Given the description of an element on the screen output the (x, y) to click on. 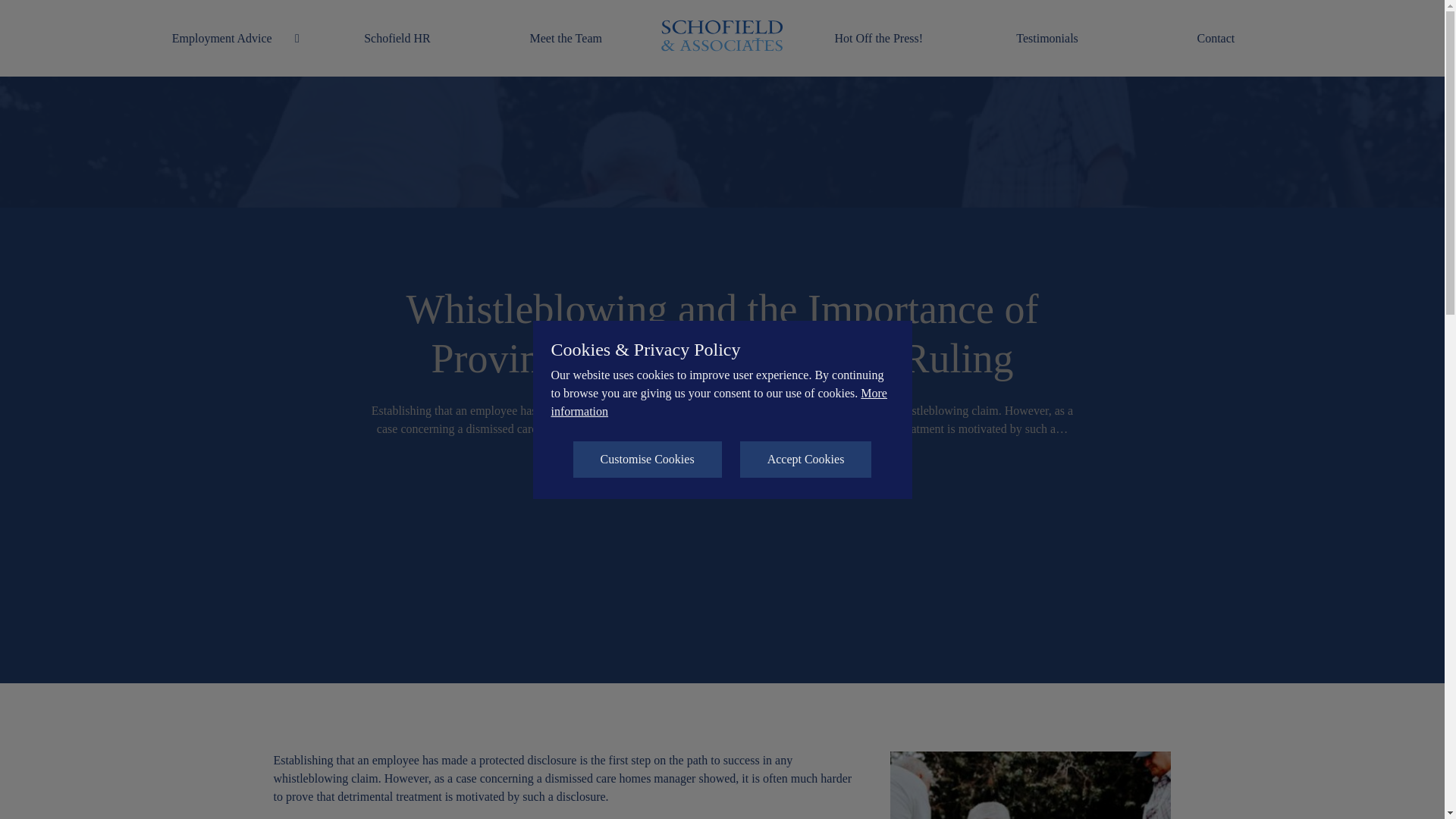
Hot Off the Press! (878, 38)
Schofield HR (396, 38)
Employment Advice (220, 38)
Meet the Team (565, 38)
Testimonials (1047, 38)
More information (718, 401)
Contact (1215, 38)
